Given the description of an element on the screen output the (x, y) to click on. 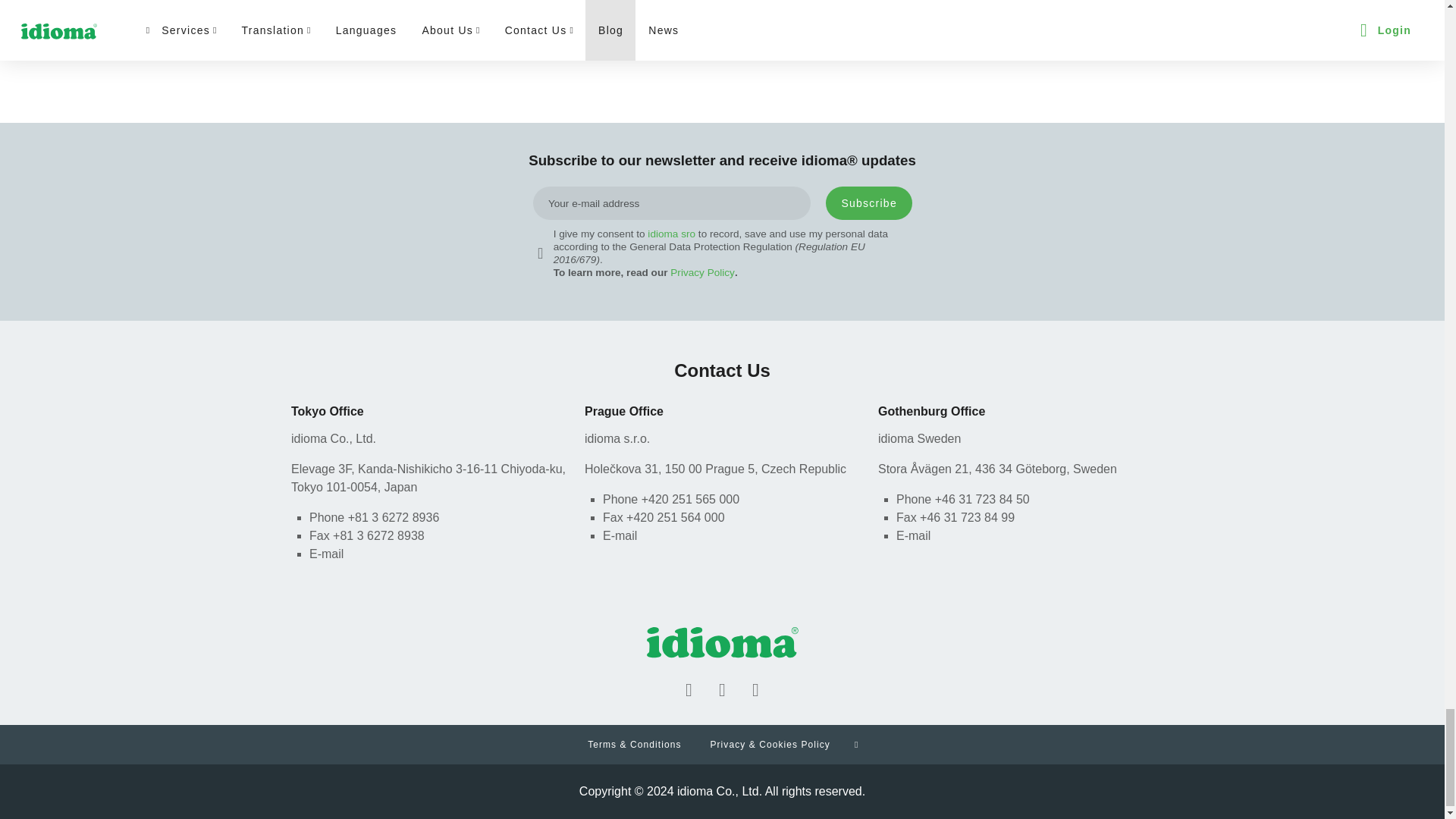
LinkedIn (721, 689)
Cookie settings (855, 744)
Twitter (754, 689)
Facebook (688, 689)
